Given the description of an element on the screen output the (x, y) to click on. 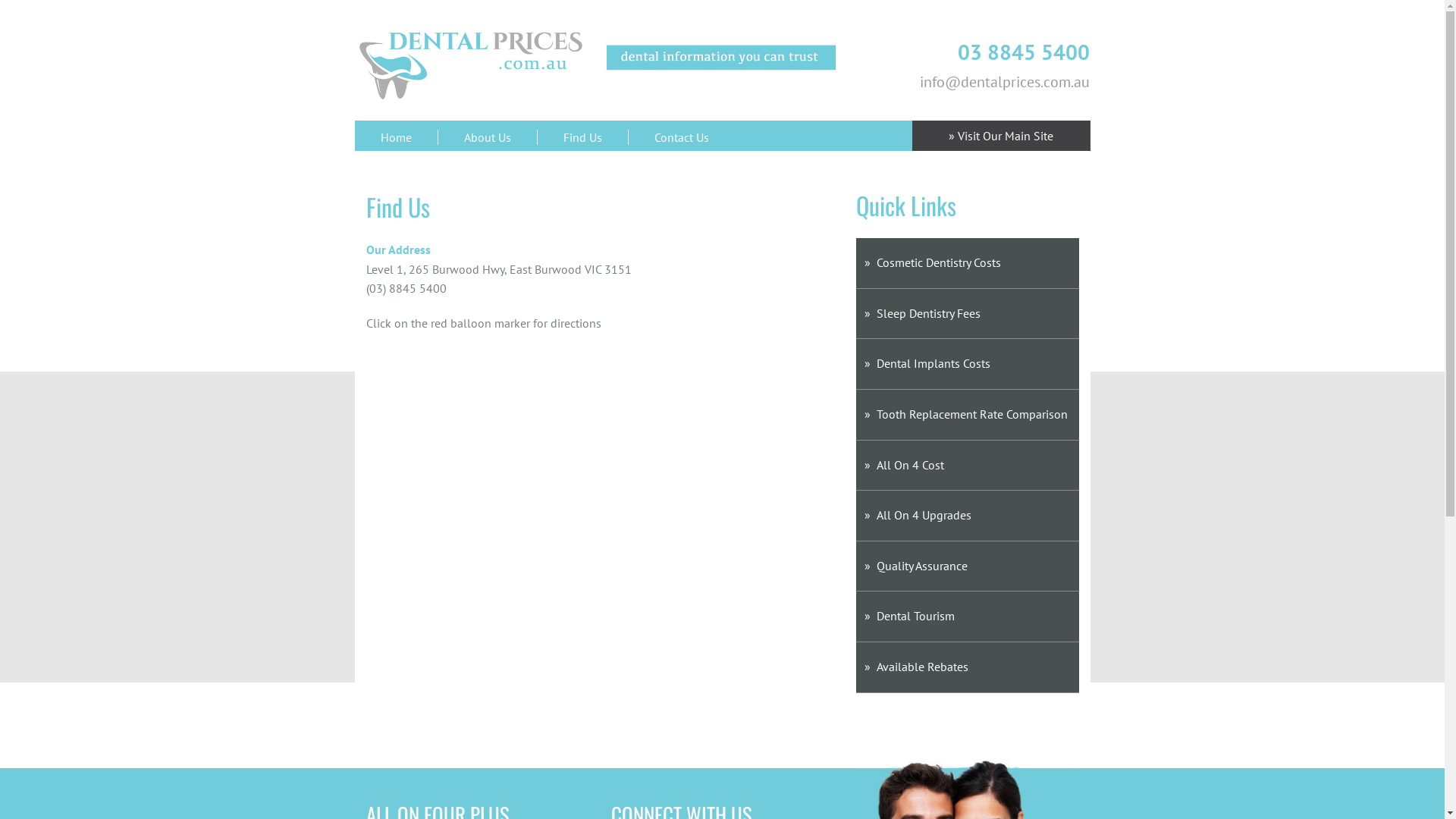
Dental Tourism Element type: text (967, 616)
Contact Us Element type: text (680, 136)
Available Rebates Element type: text (967, 667)
Find Us Element type: text (581, 136)
Sleep Dentistry Fees Element type: text (967, 313)
Home Element type: text (395, 136)
Quality Assurance Element type: text (967, 566)
Tooth Replacement Rate Comparison Element type: text (967, 414)
About Us Element type: text (486, 136)
info@dentalprices.com.au Element type: text (1004, 81)
All On 4 Upgrades Element type: text (967, 515)
Dental Implants Costs Element type: text (967, 363)
All On 4 Cost Element type: text (967, 465)
Cosmetic Dentistry Costs Element type: text (967, 263)
